Given the description of an element on the screen output the (x, y) to click on. 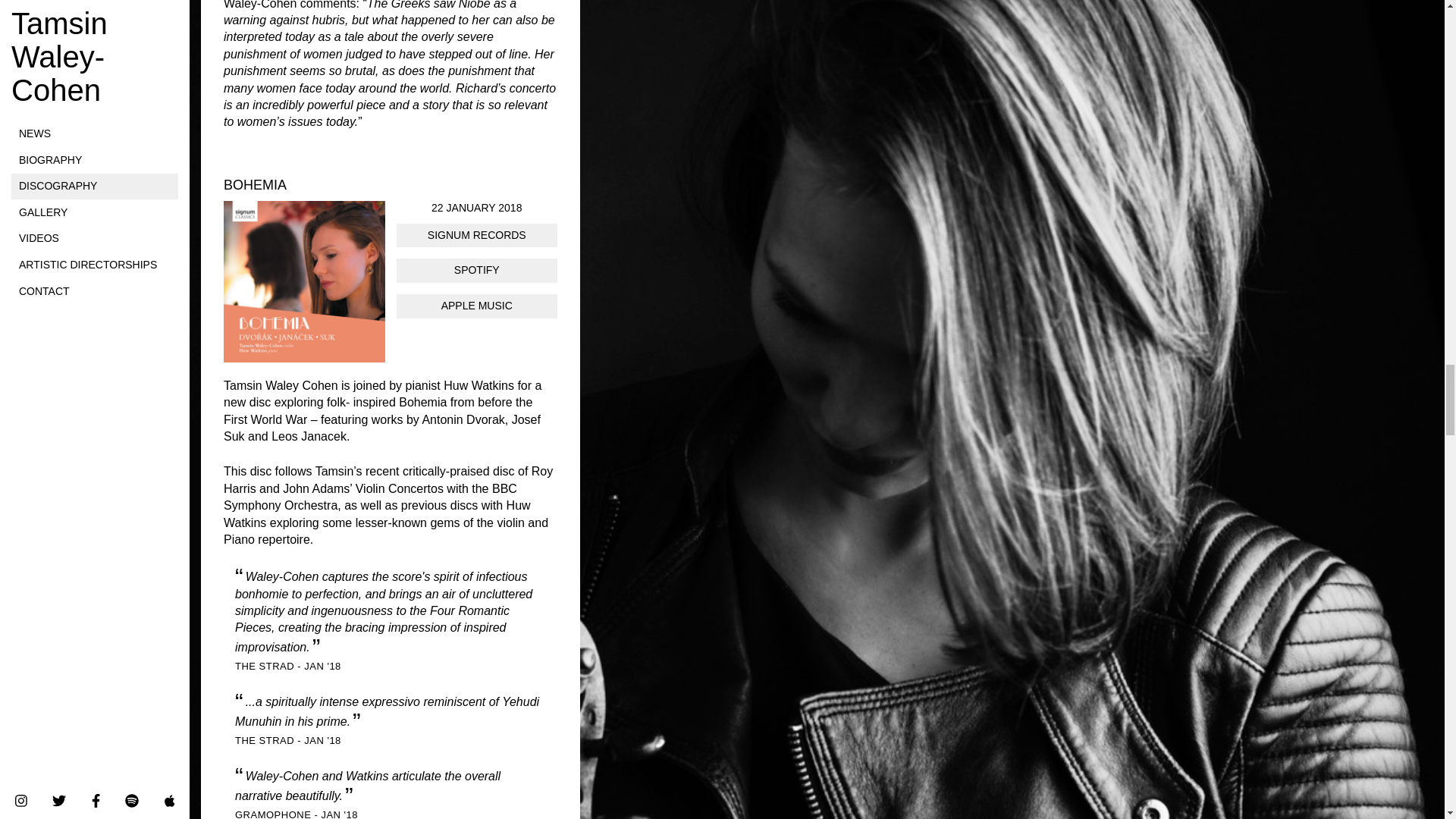
SPOTIFY (476, 270)
SIGNUM RECORDS (476, 235)
APPLE MUSIC (476, 306)
